Given the description of an element on the screen output the (x, y) to click on. 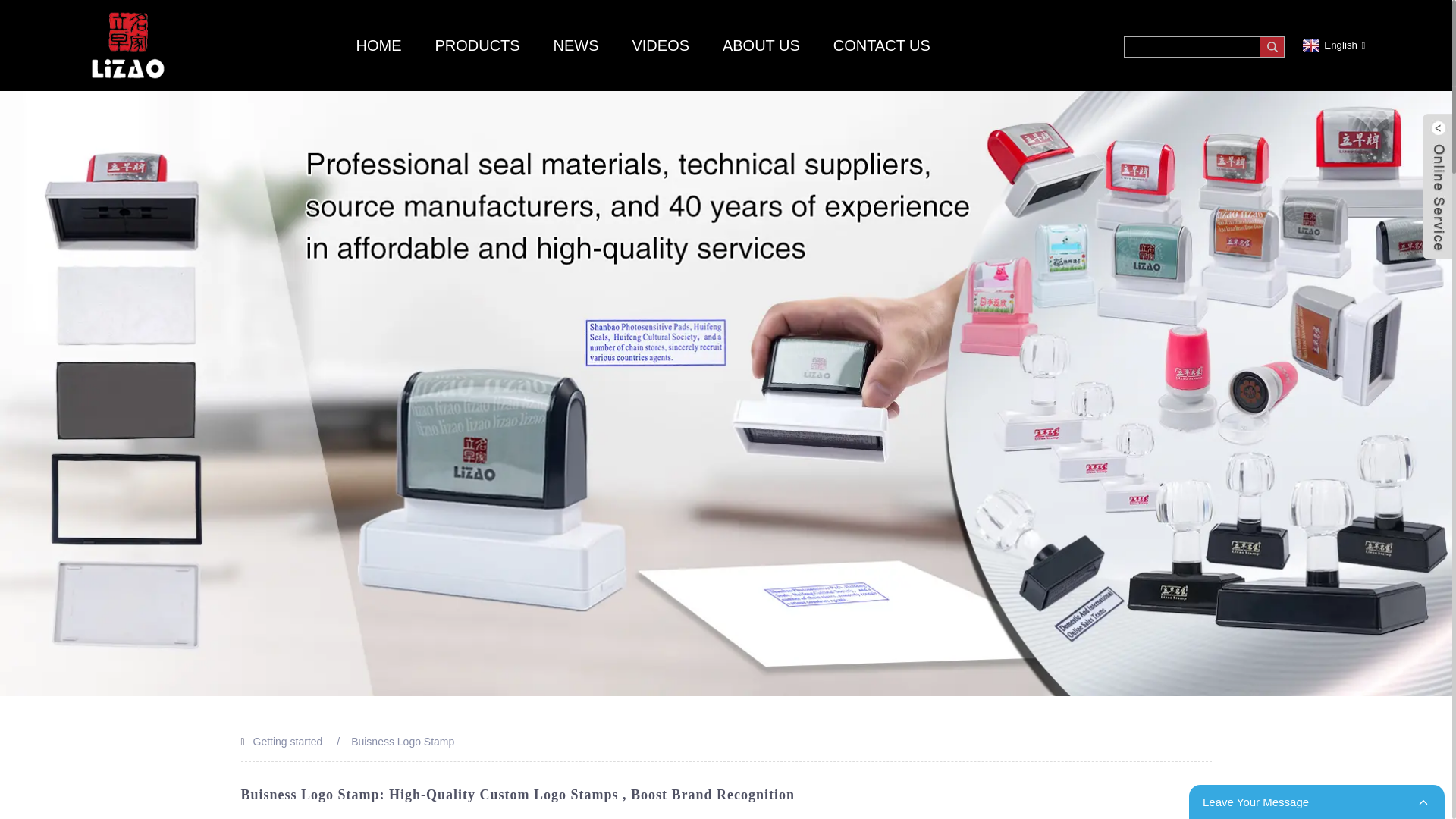
PRODUCTS (476, 45)
Getting started (288, 741)
English (1331, 44)
Buisness Logo Stamp (402, 741)
CONTACT US (881, 45)
